Given the description of an element on the screen output the (x, y) to click on. 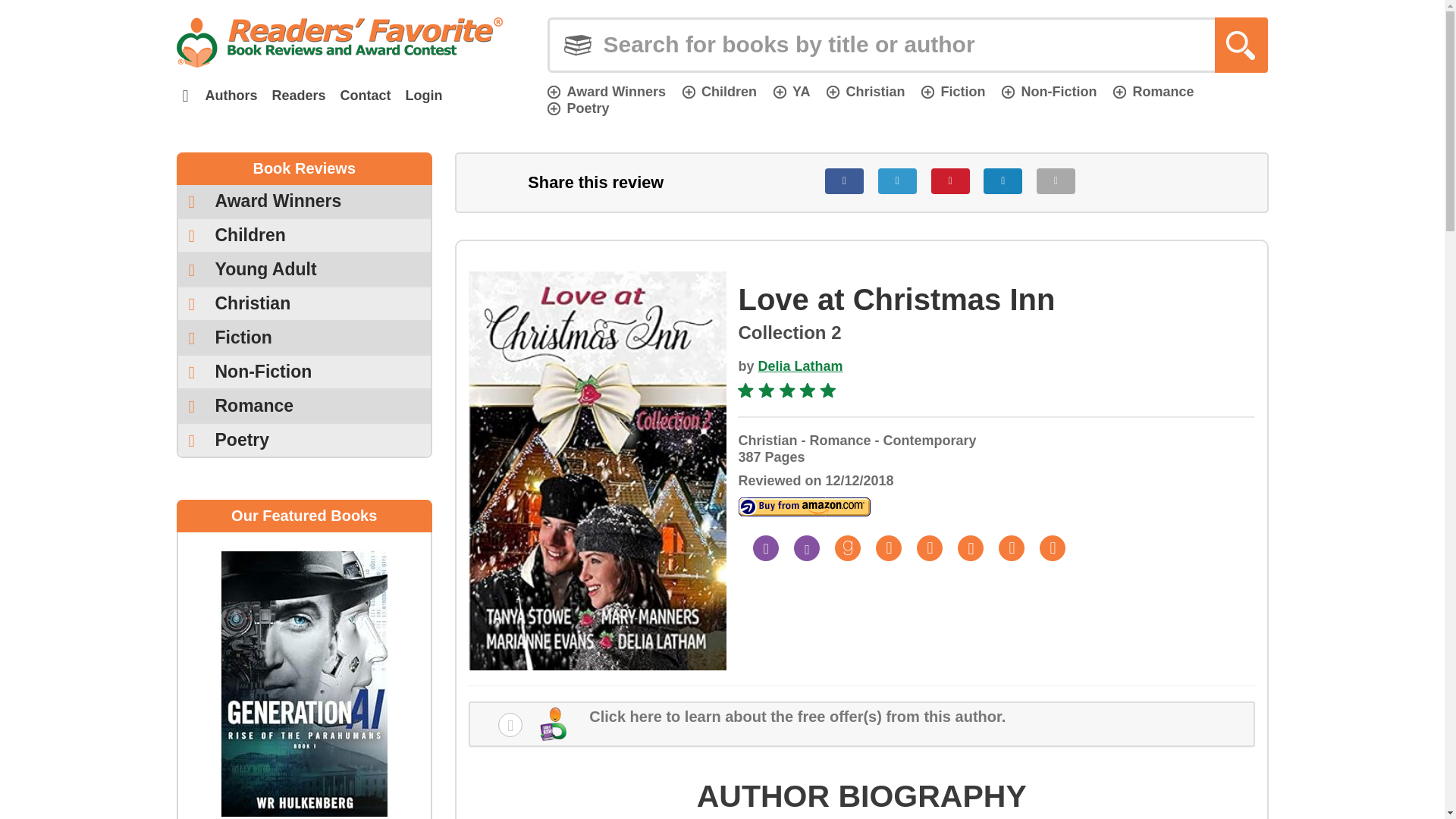
Readers (297, 96)
Christian (865, 91)
Authors (230, 96)
Poetry (577, 108)
Non-Fiction (1048, 91)
Award Winners (606, 91)
Login (423, 96)
Award Winners (303, 202)
Contact (365, 96)
Children (719, 91)
Fiction (953, 91)
Romance (1153, 91)
Readers' Favorite (339, 42)
YA (791, 91)
